Given the description of an element on the screen output the (x, y) to click on. 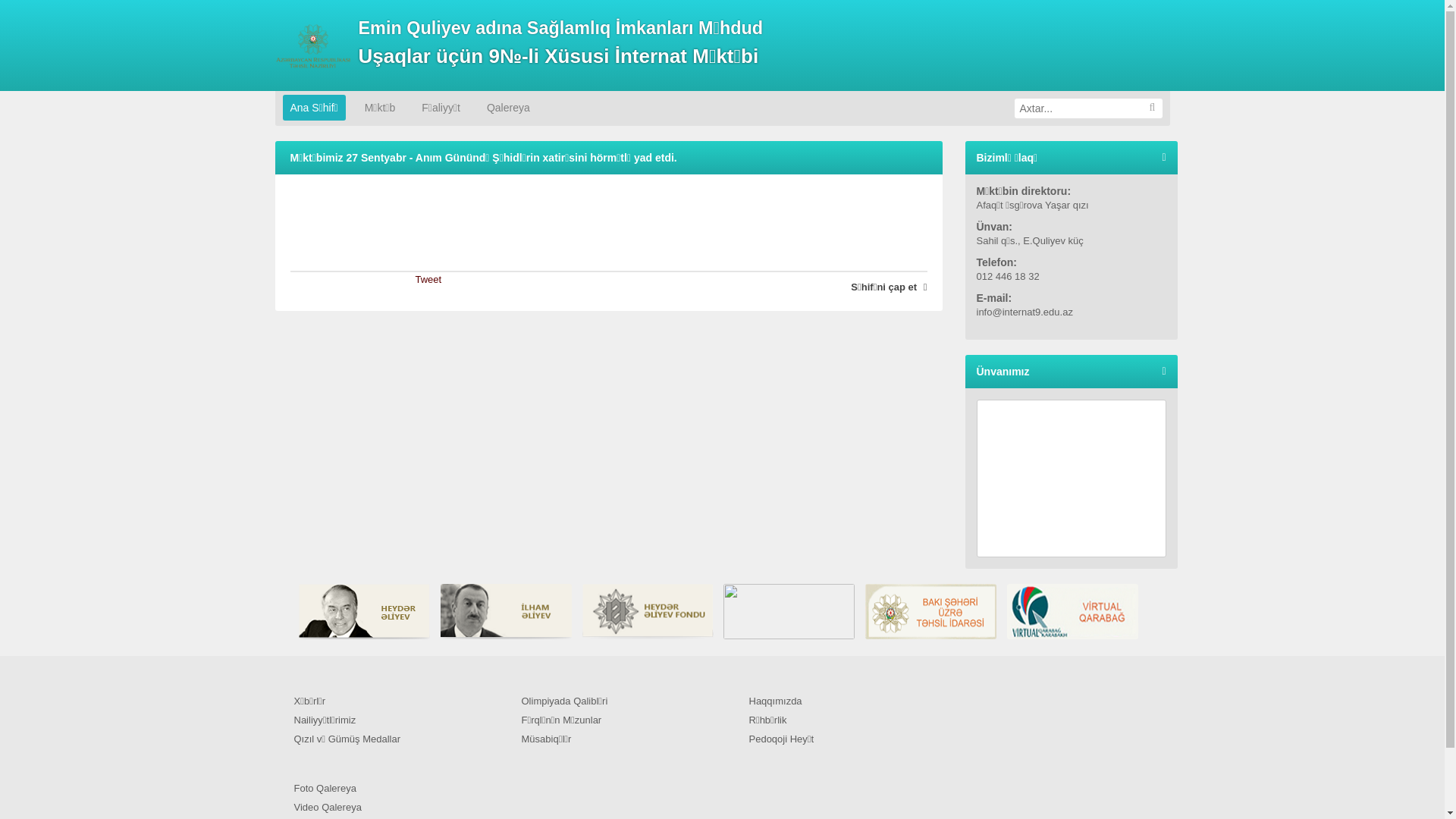
info@internat9.edu.az Element type: text (1071, 311)
Foto Qalereya Element type: text (388, 788)
012 446 18 32 Element type: text (1071, 276)
Tweet Element type: text (428, 278)
Qalereya Element type: text (508, 107)
Video Qalereya Element type: text (388, 807)
